Given the description of an element on the screen output the (x, y) to click on. 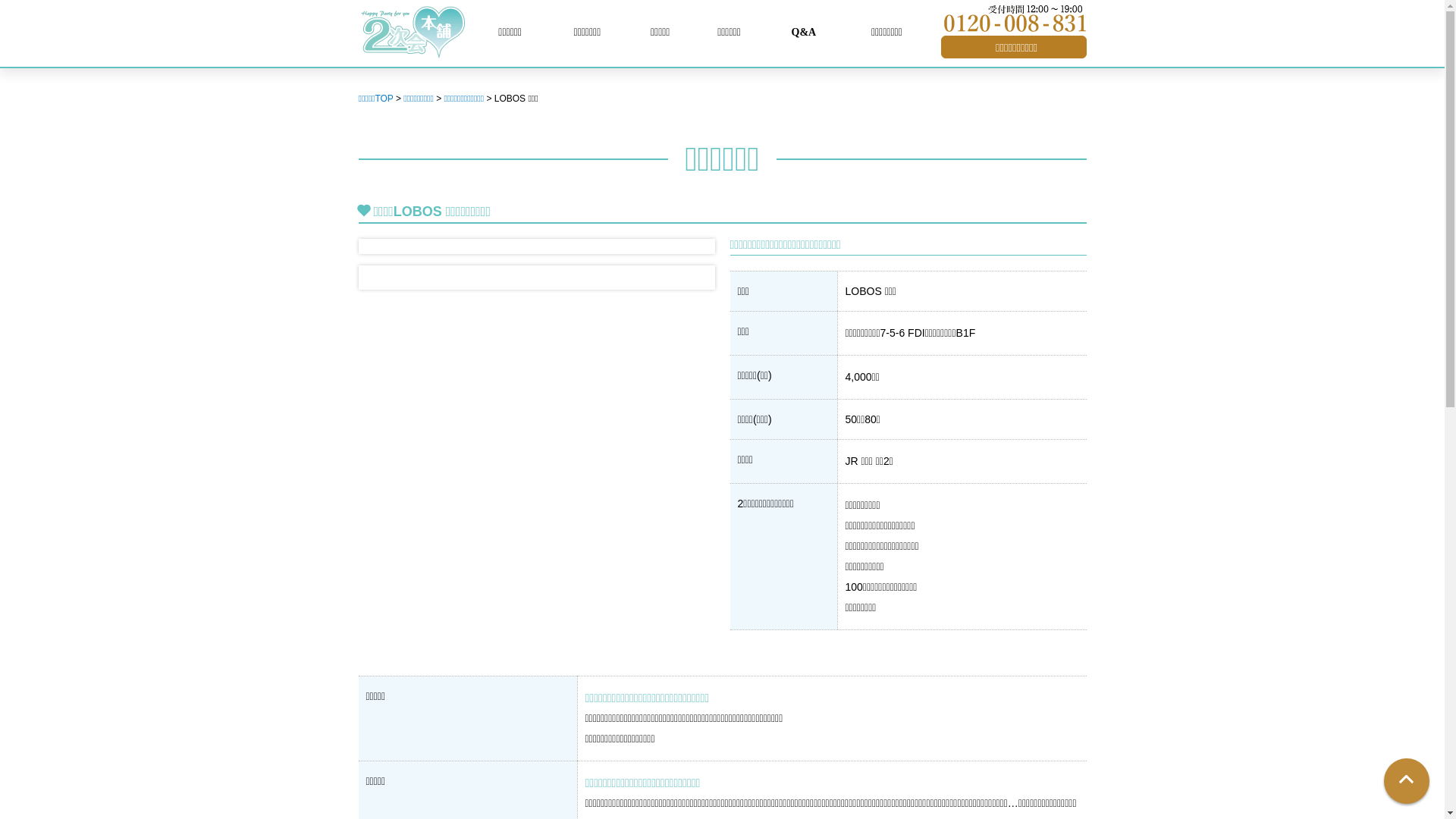
Q&A Element type: text (803, 31)
